Given the description of an element on the screen output the (x, y) to click on. 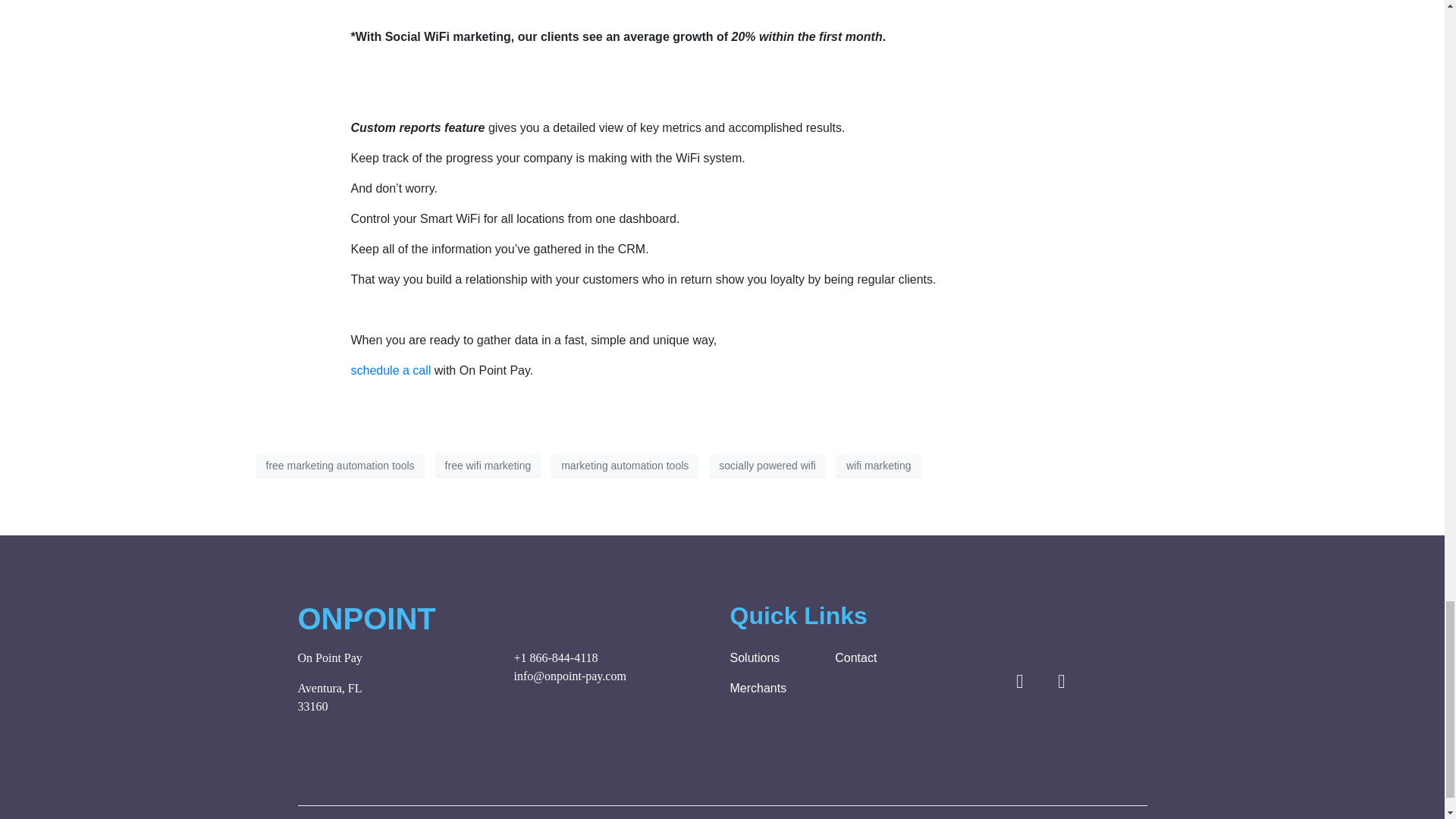
Contact (879, 658)
socially powered wifi (767, 465)
marketing automation tools (624, 465)
Merchants (774, 688)
Solutions (774, 658)
free wifi marketing (488, 465)
schedule a call (390, 369)
wifi marketing (878, 465)
free marketing automation tools (340, 465)
